Given the description of an element on the screen output the (x, y) to click on. 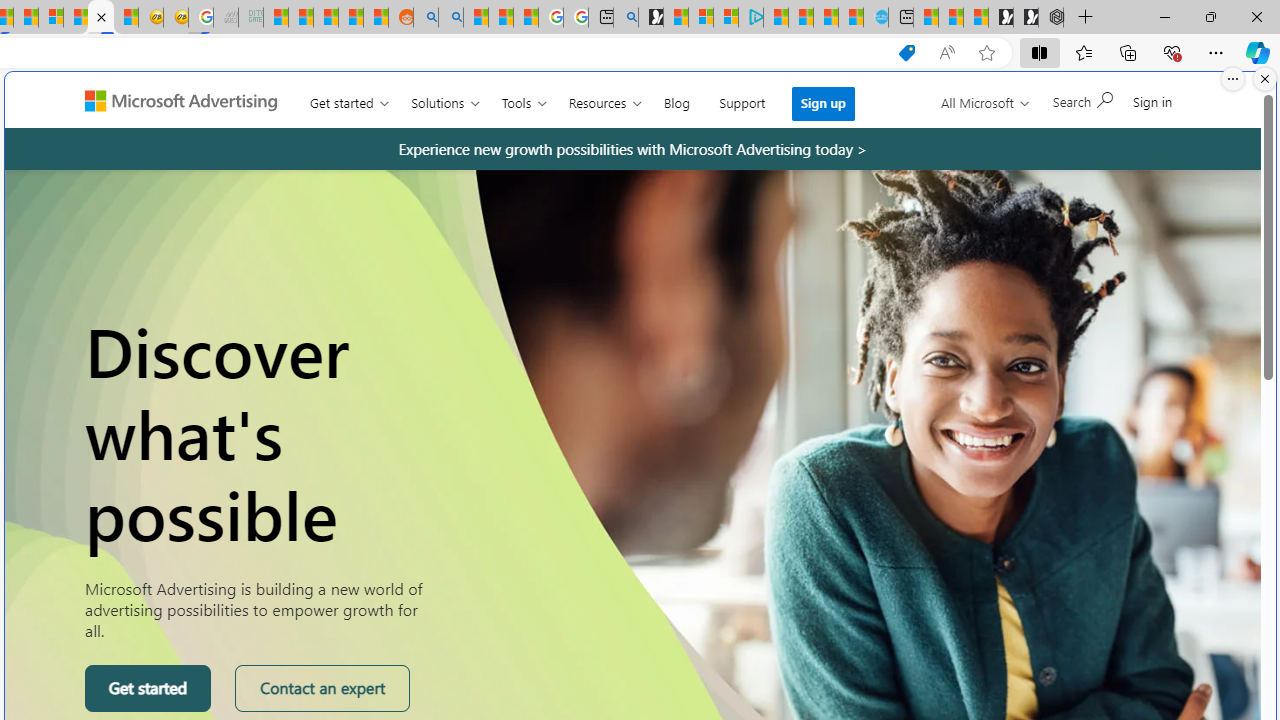
Close (1256, 16)
Copilot (Ctrl+Shift+.) (1258, 52)
Minimize (1164, 16)
Support (742, 98)
Navy Quest (225, 17)
More options. (1233, 79)
Settings and more (Alt+F) (1215, 52)
Search (1082, 99)
